Given the description of an element on the screen output the (x, y) to click on. 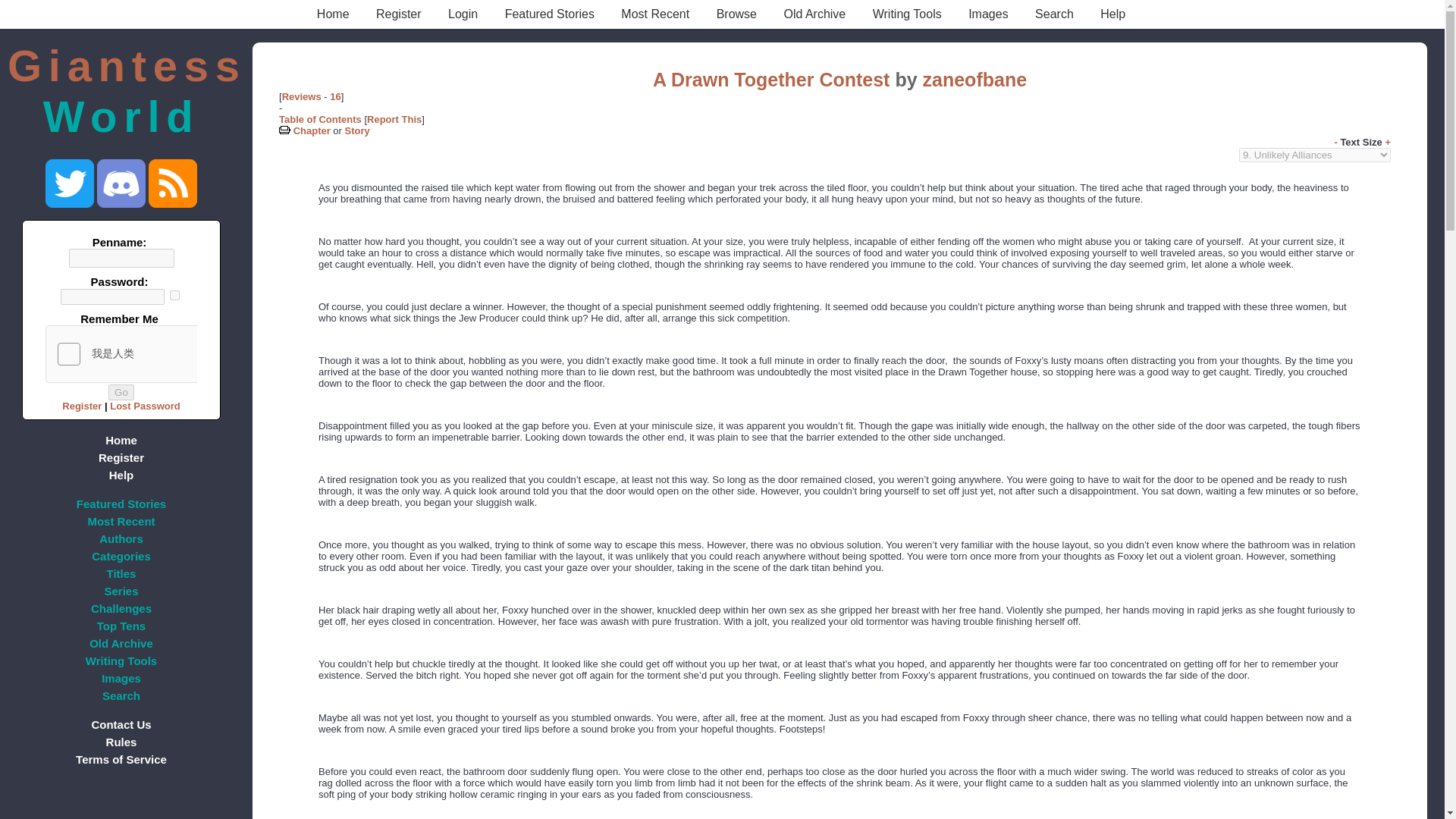
Browse (736, 13)
Images (987, 13)
Help (120, 475)
Titles (120, 573)
Writing Tools (120, 660)
Categories (120, 556)
Most Recent (655, 13)
Challenges (120, 608)
Most Recent (655, 13)
Register (398, 13)
Top Tens (120, 625)
Go (120, 392)
Search (1054, 13)
16 (335, 96)
Featured Stories (550, 13)
